Given the description of an element on the screen output the (x, y) to click on. 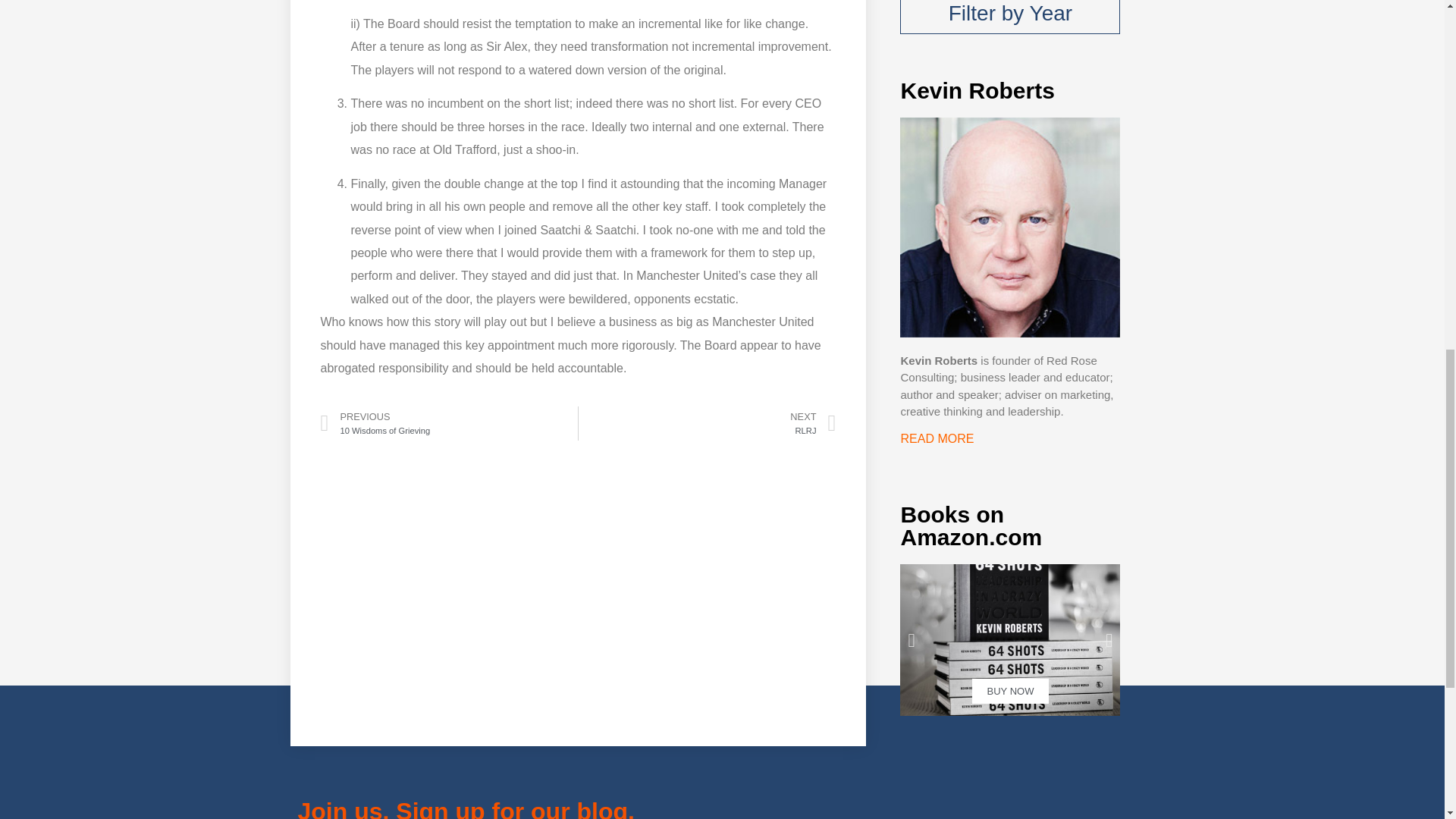
BUY NOW (1009, 639)
Filter by Year (706, 423)
READ MORE (1009, 17)
